Given the description of an element on the screen output the (x, y) to click on. 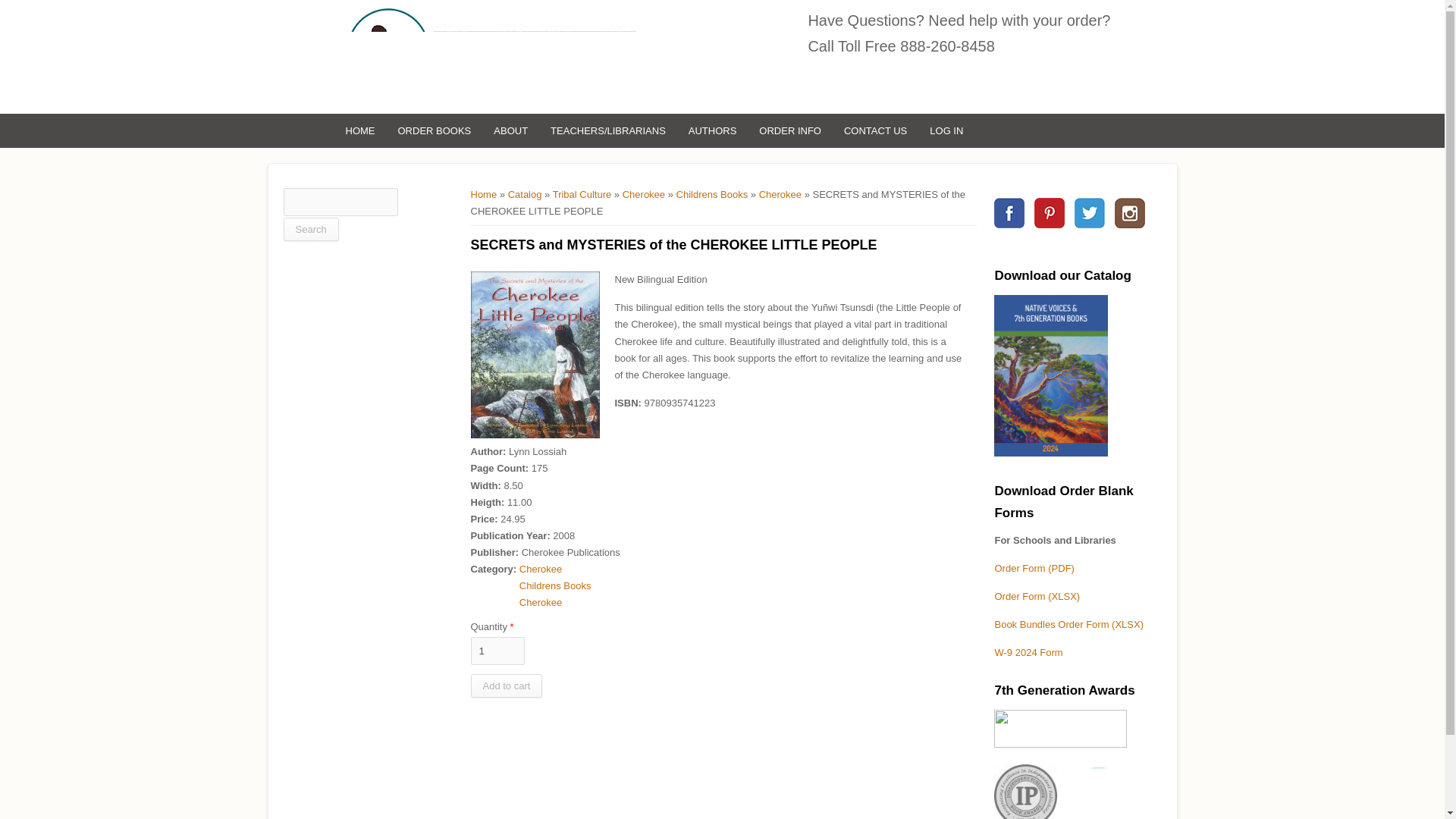
Home (485, 56)
Home (483, 194)
HOME (359, 130)
ORDER INFO (790, 130)
AUTHORS (712, 130)
Add to cart (505, 685)
LOG IN (946, 130)
CONTACT US (875, 130)
Search (311, 228)
1 (497, 651)
ORDER BOOKS (435, 130)
ABOUT (509, 130)
